Given the description of an element on the screen output the (x, y) to click on. 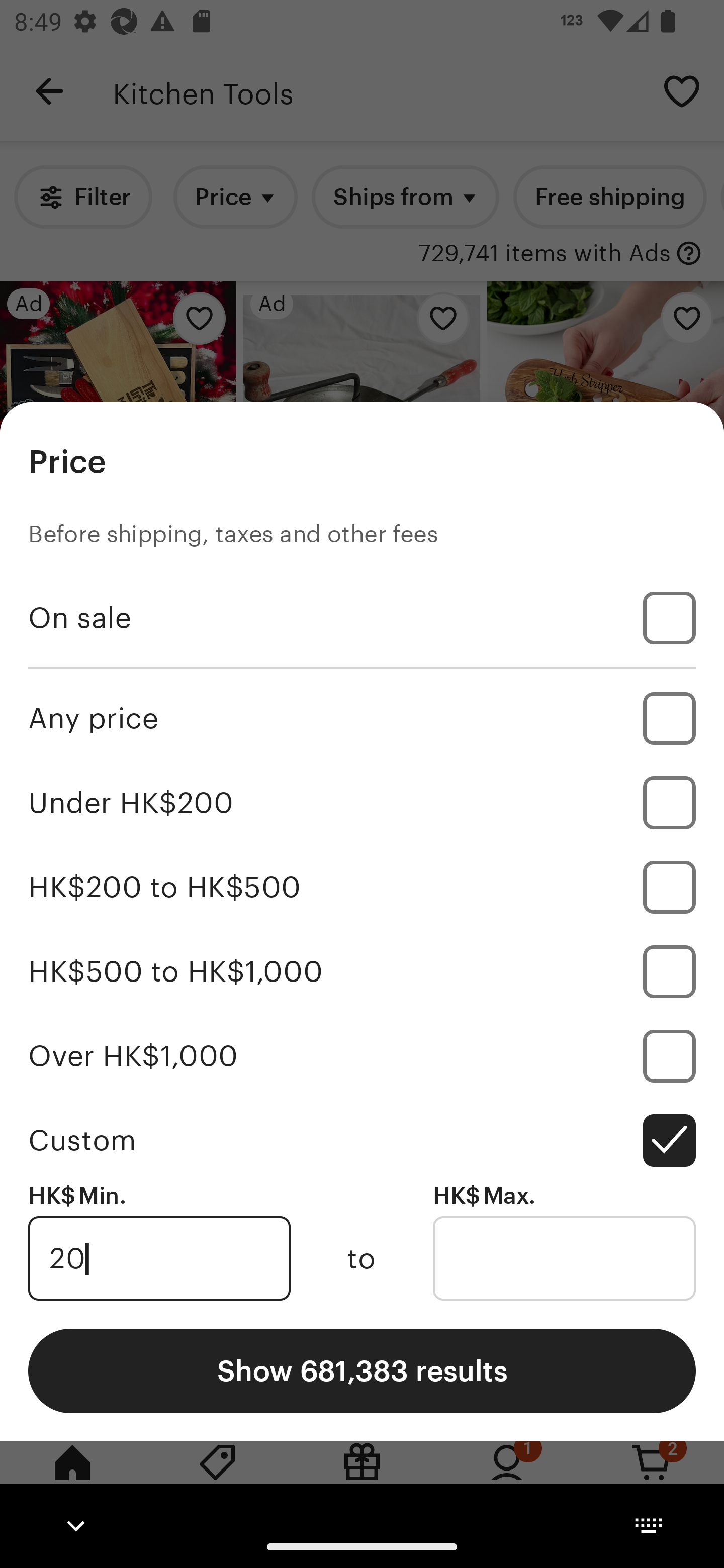
On sale (362, 617)
Any price (362, 717)
Under HK$200 (362, 802)
HK$200 to HK$500 (362, 887)
HK$500 to HK$1,000 (362, 970)
Over HK$1,000 (362, 1054)
Custom (362, 1139)
20 (159, 1257)
Show 681,383 results (361, 1370)
